Given the description of an element on the screen output the (x, y) to click on. 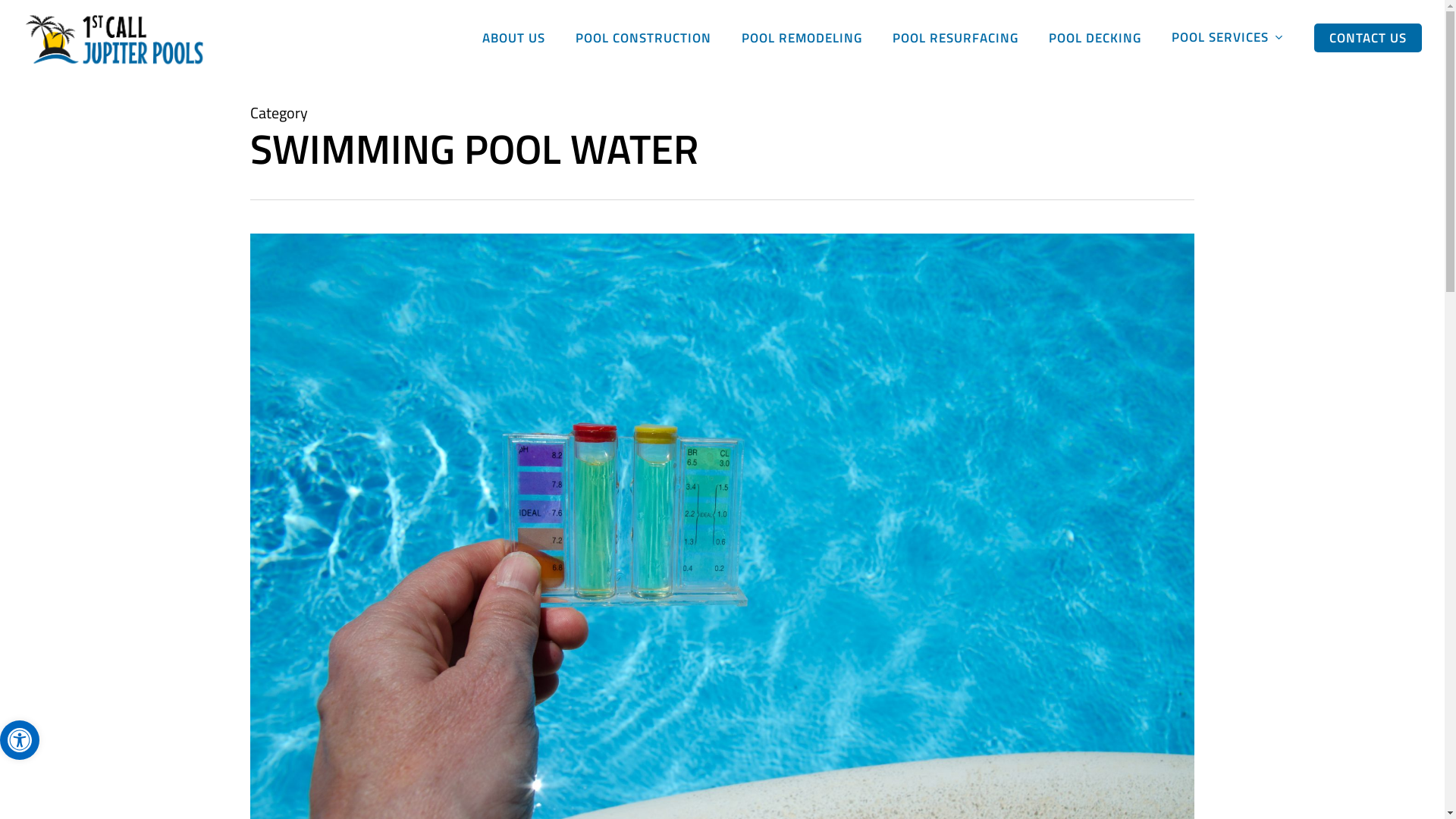
POOL DECKING Element type: text (1094, 37)
POOL SERVICES Element type: text (1227, 37)
Open toolbar
Accessibility Tools Element type: text (19, 739)
CONTACT US Element type: text (1367, 37)
ABOUT US Element type: text (513, 37)
POOL REMODELING Element type: text (801, 37)
POOL RESURFACING Element type: text (955, 37)
POOL CONSTRUCTION Element type: text (643, 37)
